Given the description of an element on the screen output the (x, y) to click on. 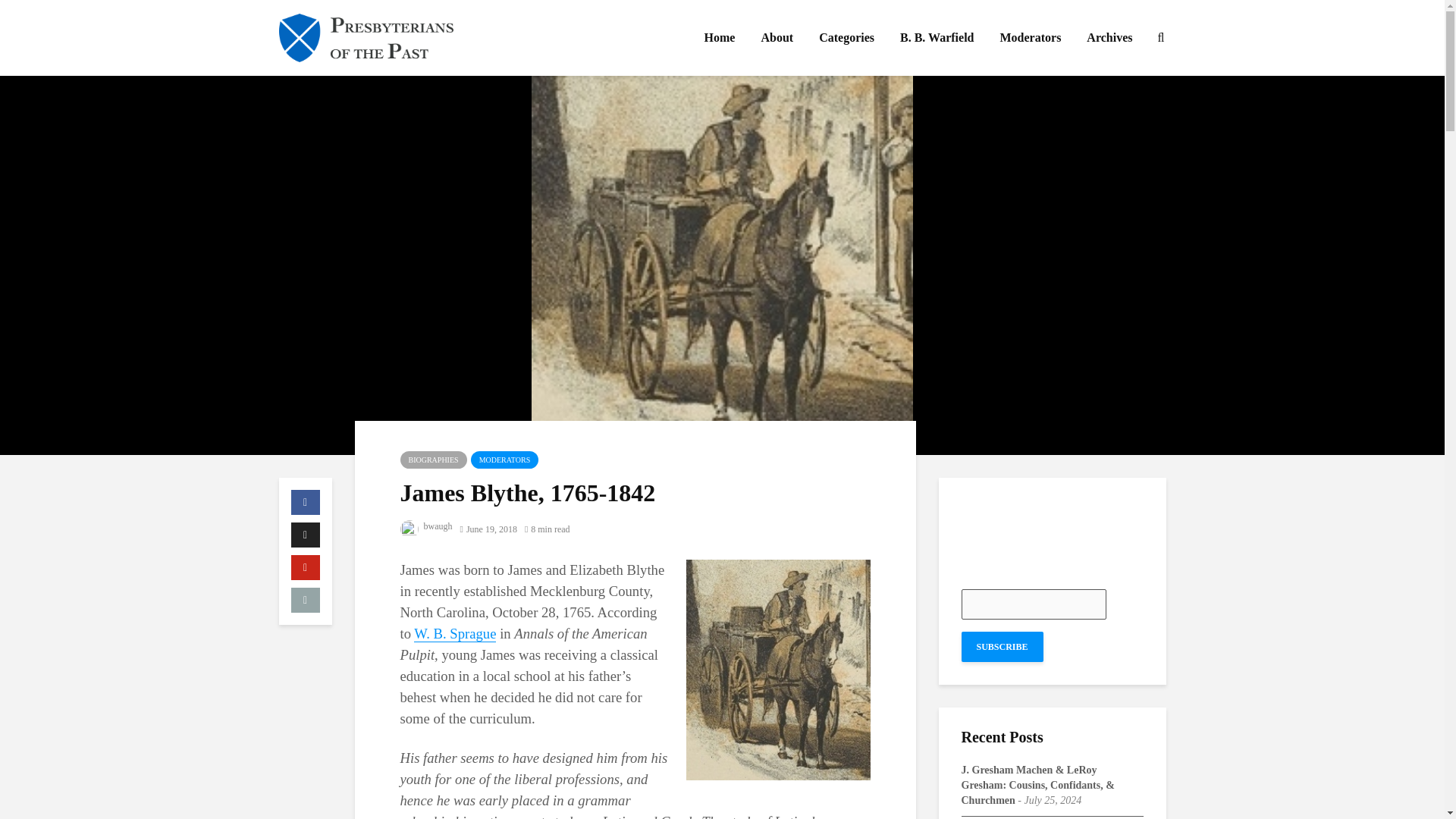
Categories (846, 37)
Home (719, 37)
About (777, 37)
Archives (1108, 37)
Subscribe (1001, 646)
B. B. Warfield (936, 37)
Moderators (1030, 37)
